Given the description of an element on the screen output the (x, y) to click on. 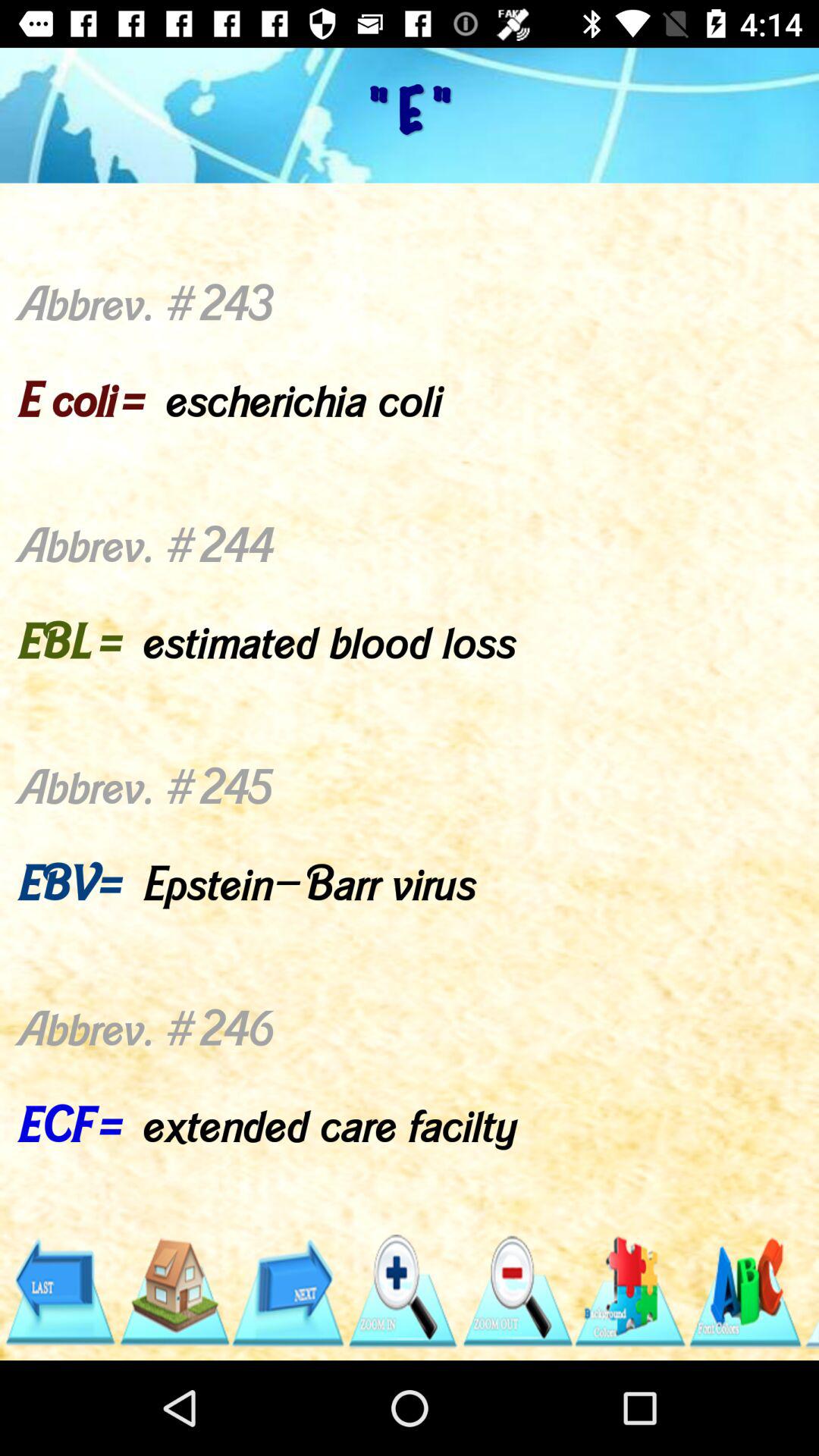
zoom out (516, 1291)
